Given the description of an element on the screen output the (x, y) to click on. 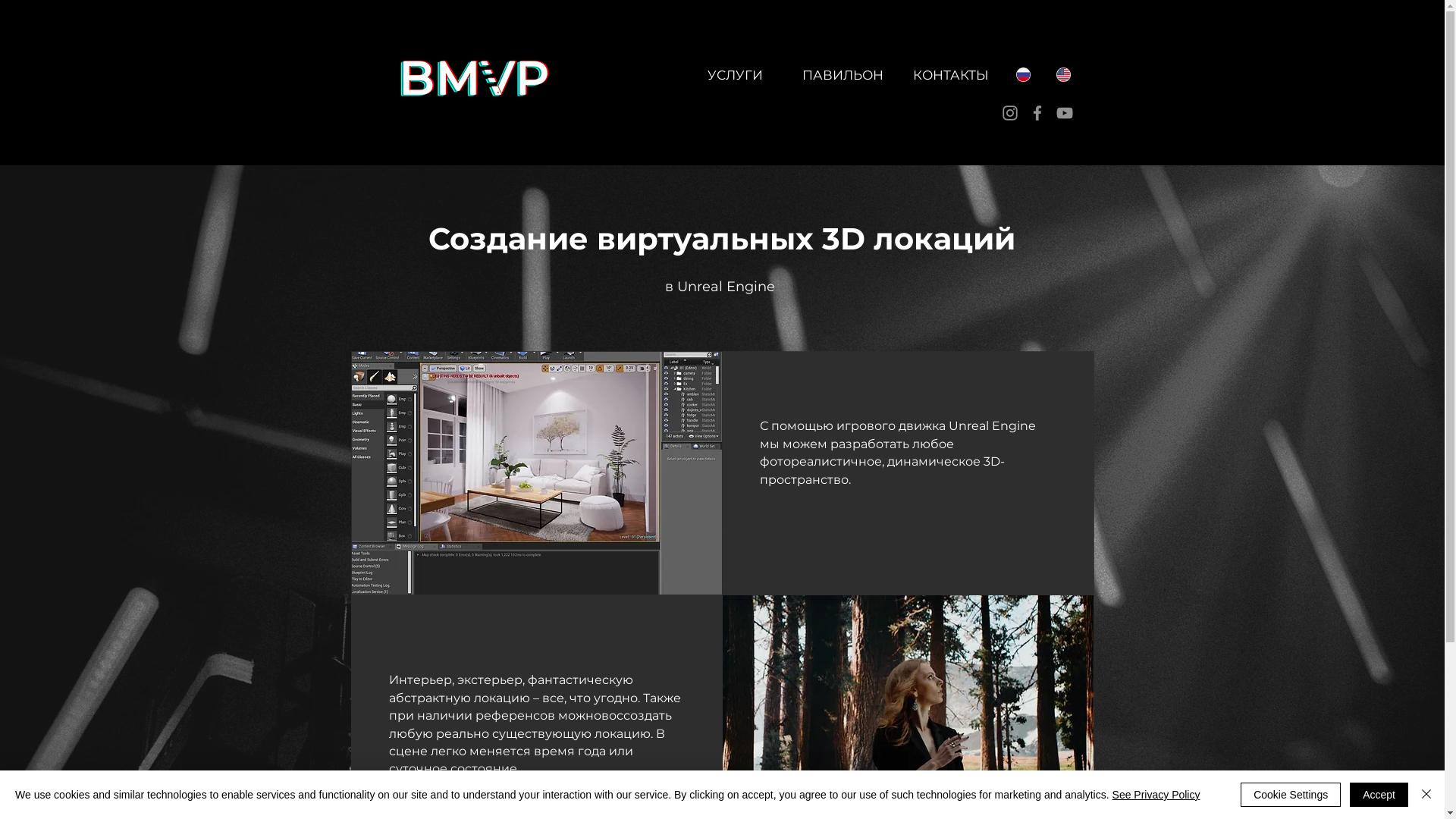
Accept Element type: text (1378, 794)
See Privacy Policy Element type: text (1156, 794)
Cookie Settings Element type: text (1290, 794)
LOGO BMVP_rgb1.png Element type: hover (471, 82)
